Given the description of an element on the screen output the (x, y) to click on. 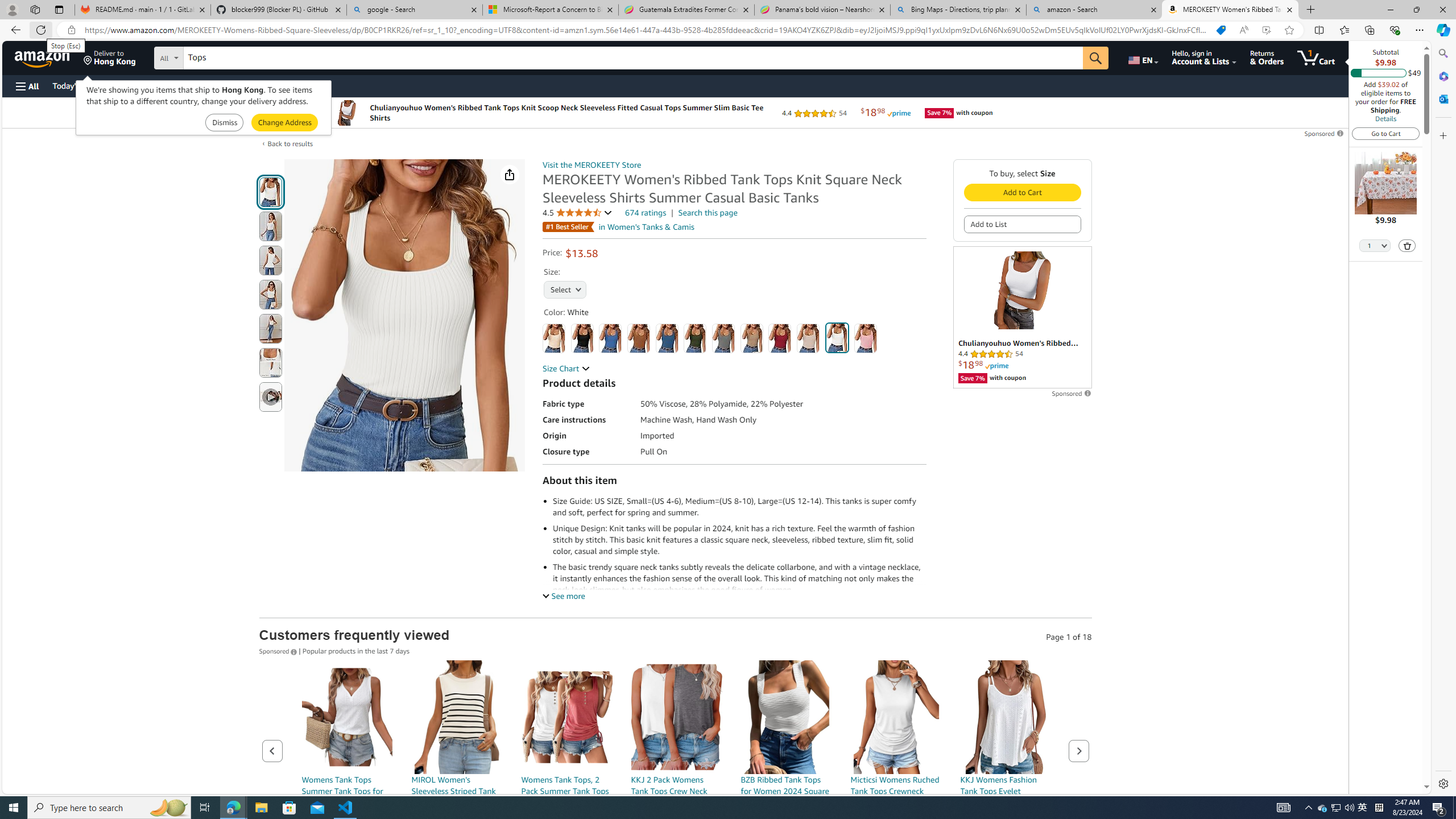
Sand (808, 338)
Dusty Blue (666, 338)
Customer Service (145, 85)
Sand (808, 338)
Green (695, 338)
Enhance video (1266, 29)
